Given the description of an element on the screen output the (x, y) to click on. 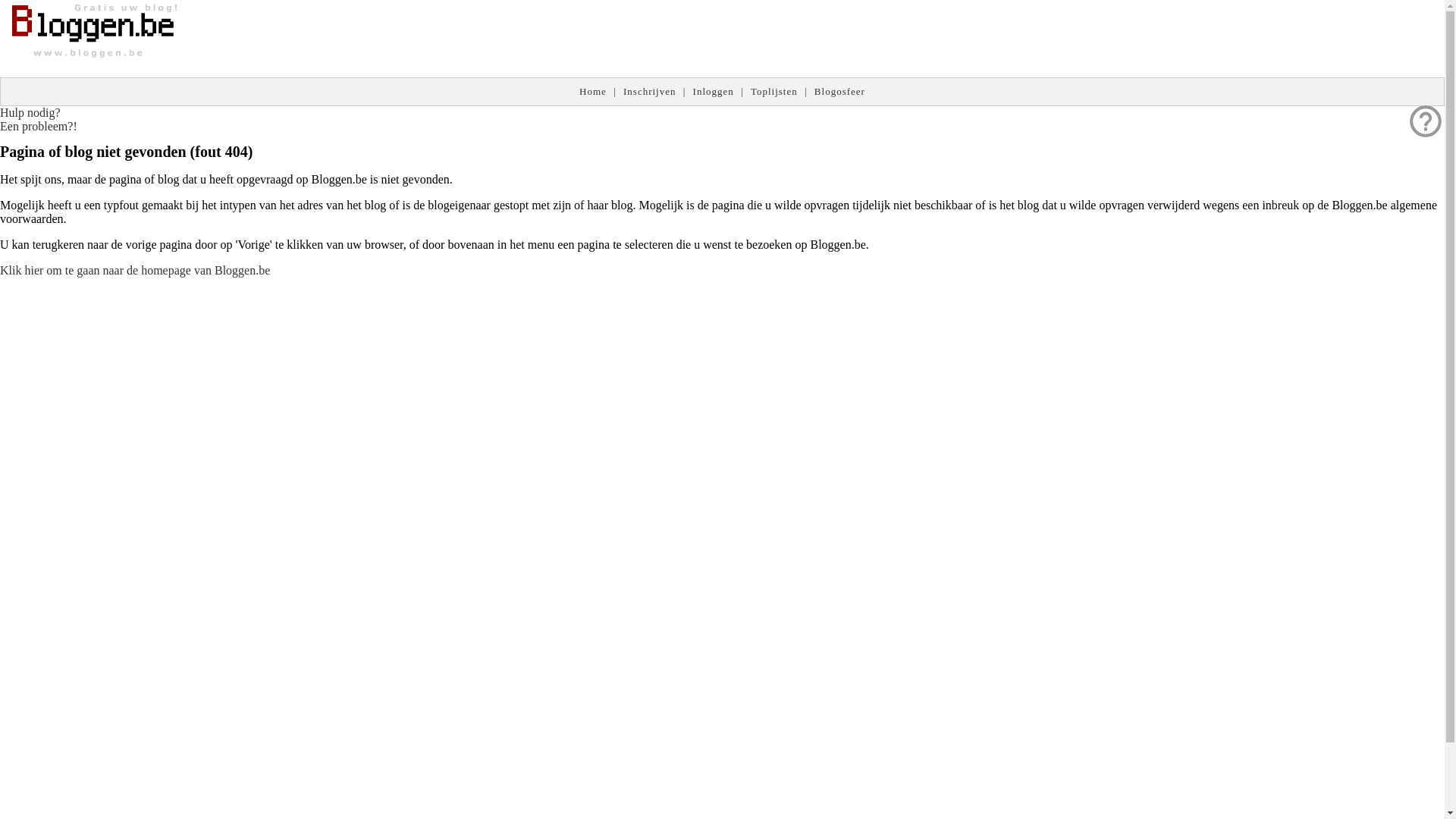
Toplijsten Element type: text (773, 91)
Inschrijven Element type: text (649, 91)
Blogosfeer Element type: text (839, 91)
Klik hier om te gaan naar de homepage van Bloggen.be Element type: text (134, 269)
help_outline
Hulp nodig?
Een probleem?! Element type: text (38, 119)
Home Element type: text (592, 91)
Inloggen Element type: text (713, 91)
